Given the description of an element on the screen output the (x, y) to click on. 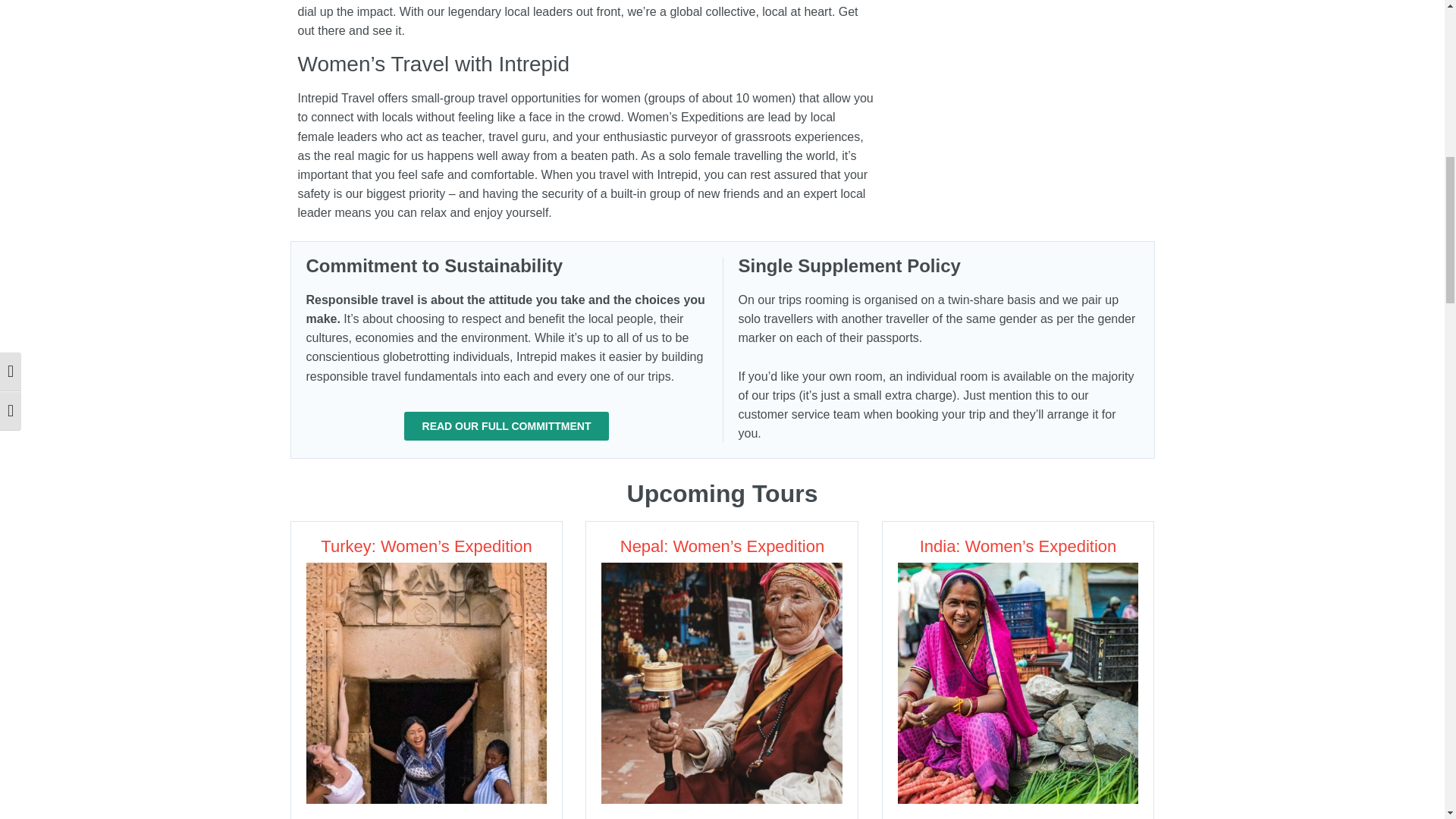
READ OUR FULL COMMITTMENT (507, 425)
